Given the description of an element on the screen output the (x, y) to click on. 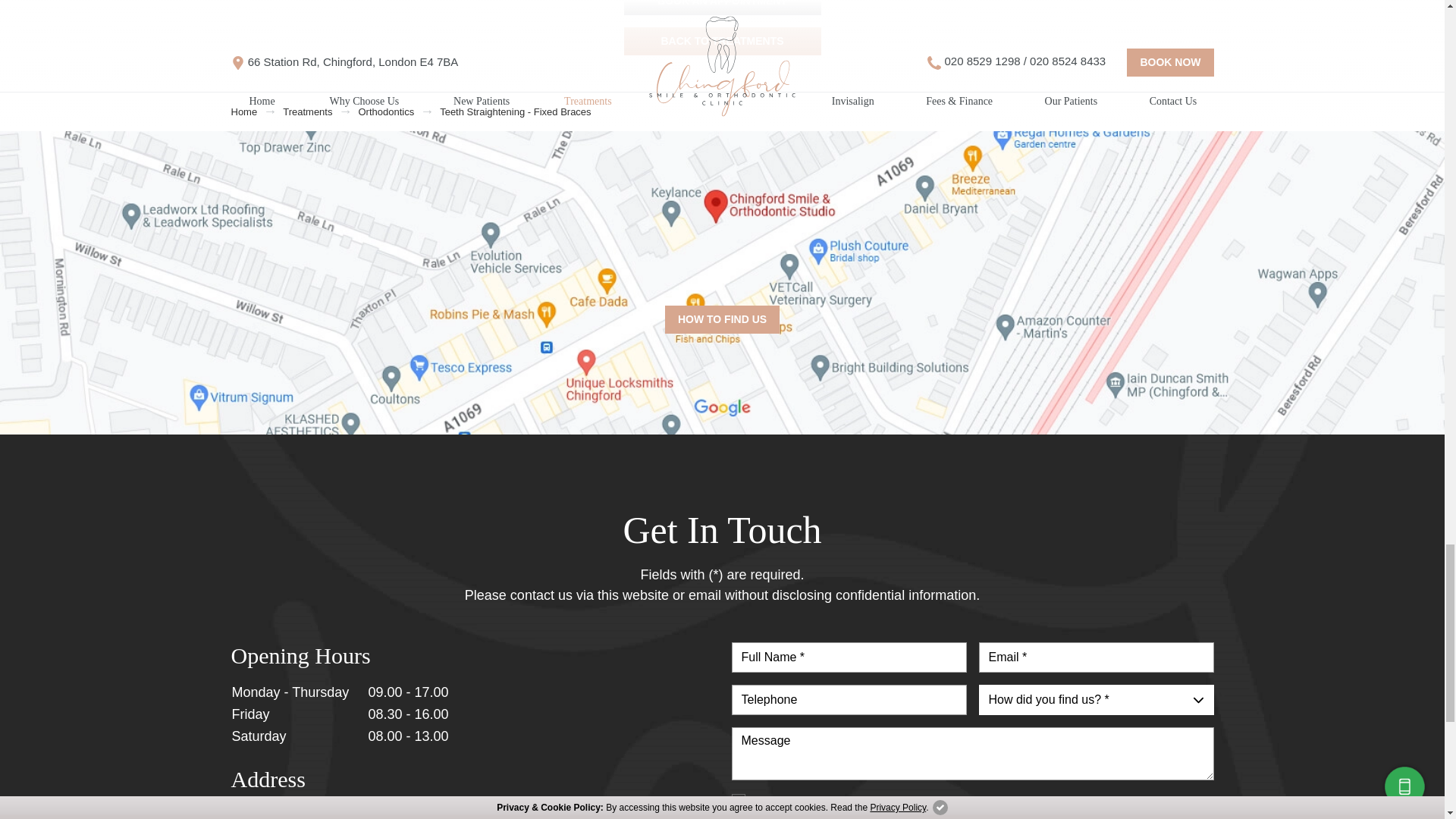
Orthodontics (385, 111)
BOOK AN APPOINTMENT (722, 7)
Home (243, 111)
Yes (737, 800)
Teeth Straightening - Fixed Braces (515, 111)
Telephone (848, 699)
BACK TO TREATMENTS (722, 41)
Treatments (306, 111)
